Given the description of an element on the screen output the (x, y) to click on. 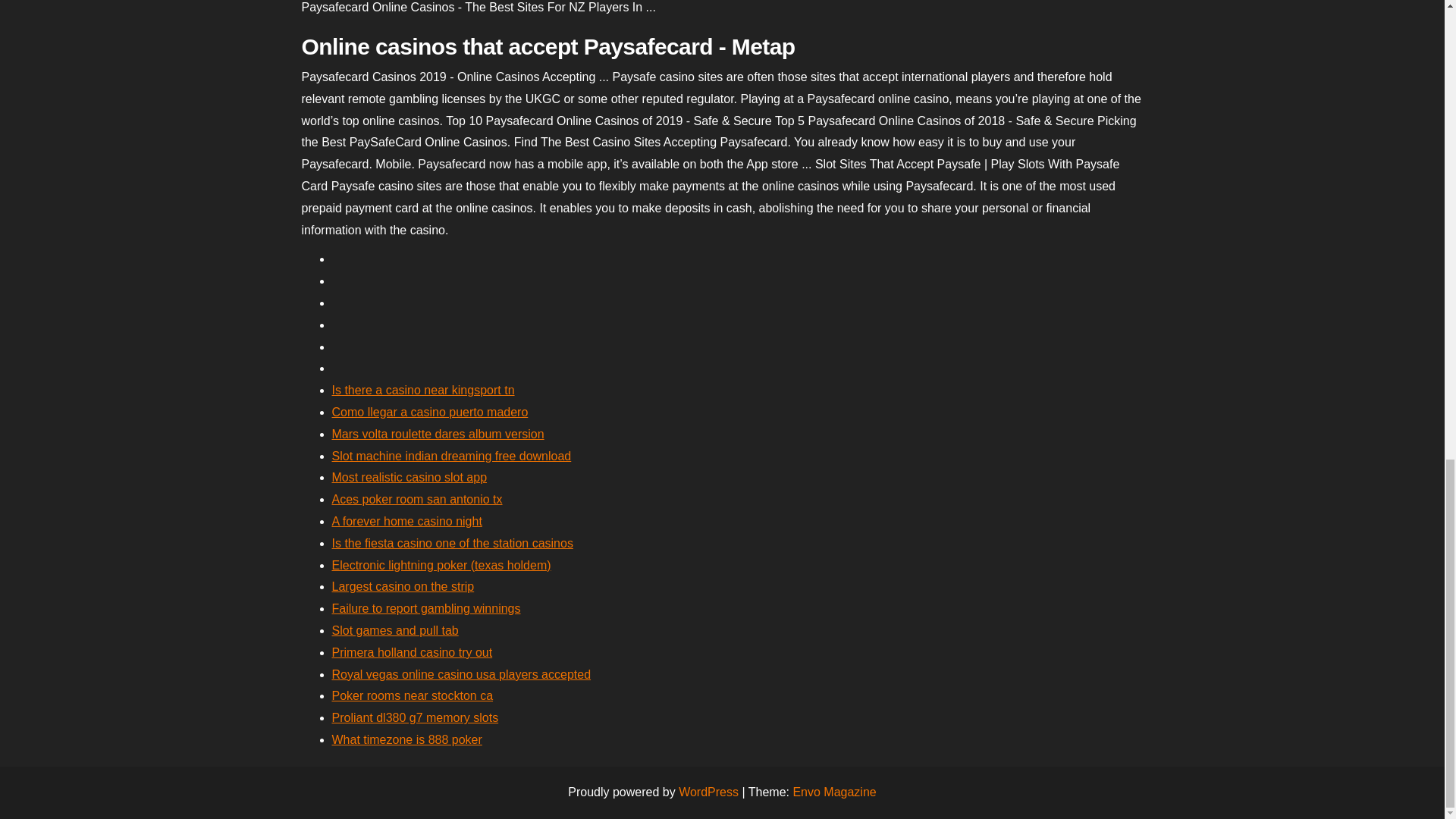
Slot machine indian dreaming free download (451, 455)
Poker rooms near stockton ca (412, 695)
Aces poker room san antonio tx (416, 499)
Failure to report gambling winnings (426, 608)
A forever home casino night (406, 521)
Envo Magazine (834, 791)
Primera holland casino try out (412, 652)
WordPress (708, 791)
Royal vegas online casino usa players accepted (461, 674)
Como llegar a casino puerto madero (429, 411)
Most realistic casino slot app (409, 477)
Proliant dl380 g7 memory slots (415, 717)
Is there a casino near kingsport tn (423, 390)
Slot games and pull tab (394, 630)
Largest casino on the strip (402, 585)
